Given the description of an element on the screen output the (x, y) to click on. 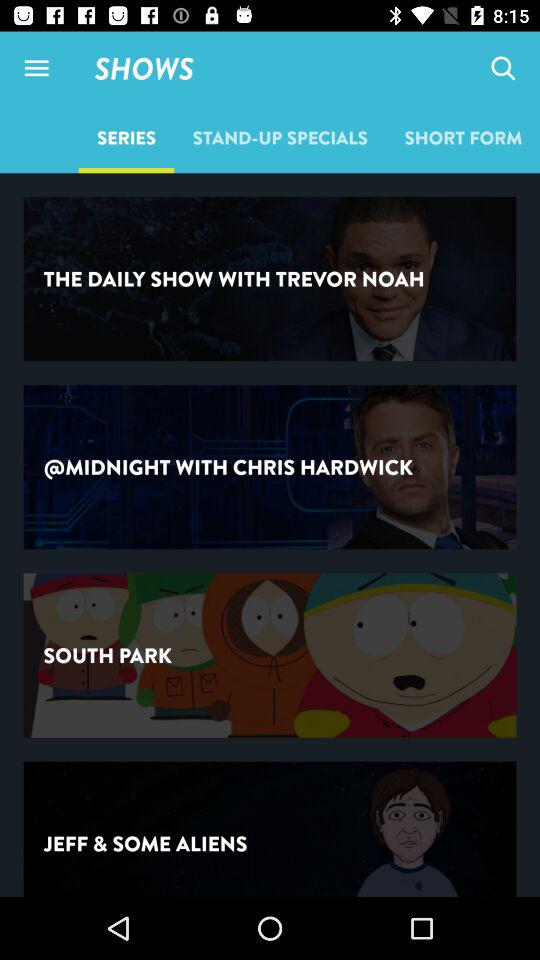
turn off item next to short form icon (280, 137)
